Given the description of an element on the screen output the (x, y) to click on. 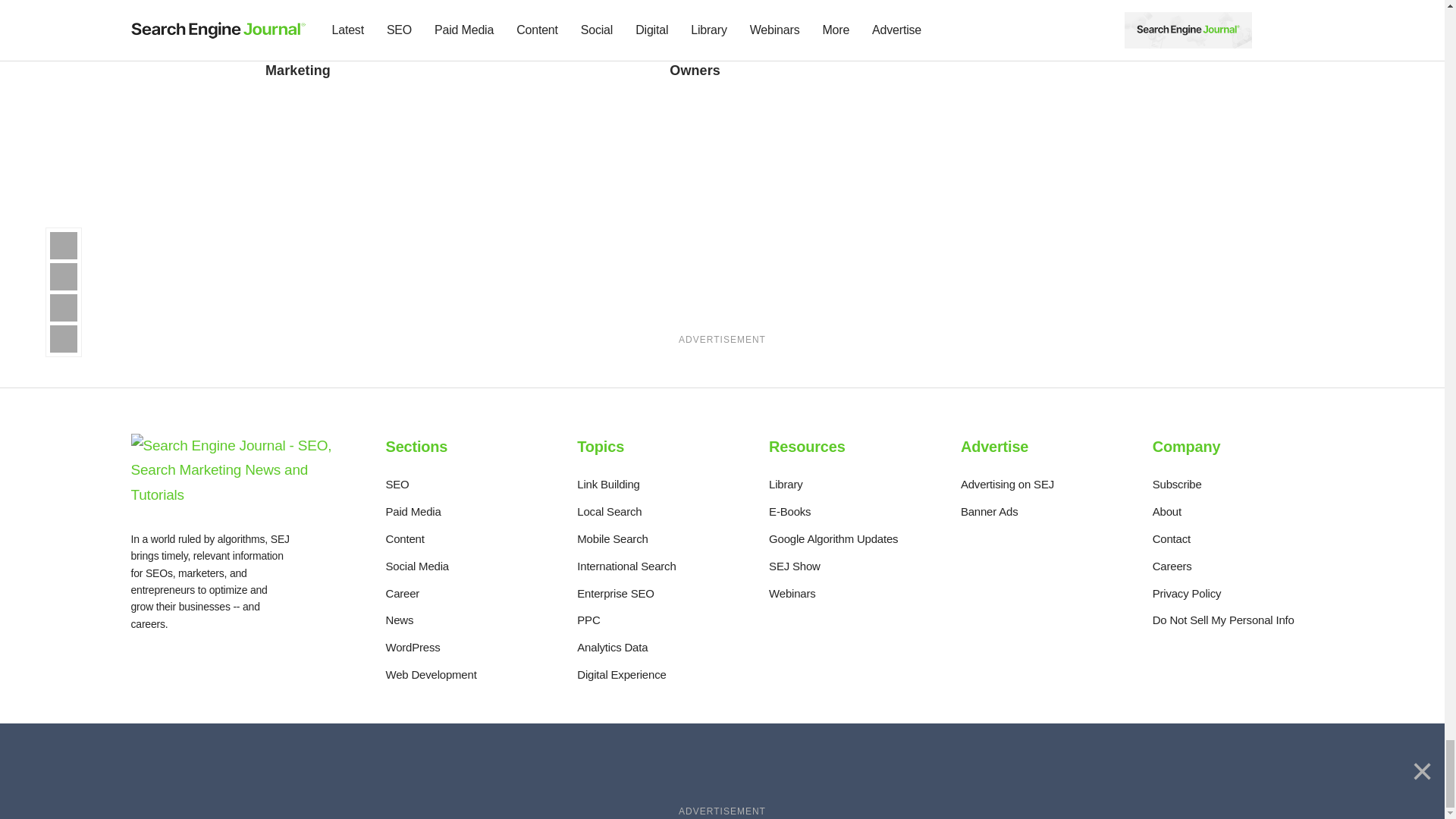
Read the Article (754, 45)
Read the Article (351, 2)
Read the Article (540, 37)
Read the Article (755, 2)
Read the Article (553, 2)
Read the Article (343, 45)
